Given the description of an element on the screen output the (x, y) to click on. 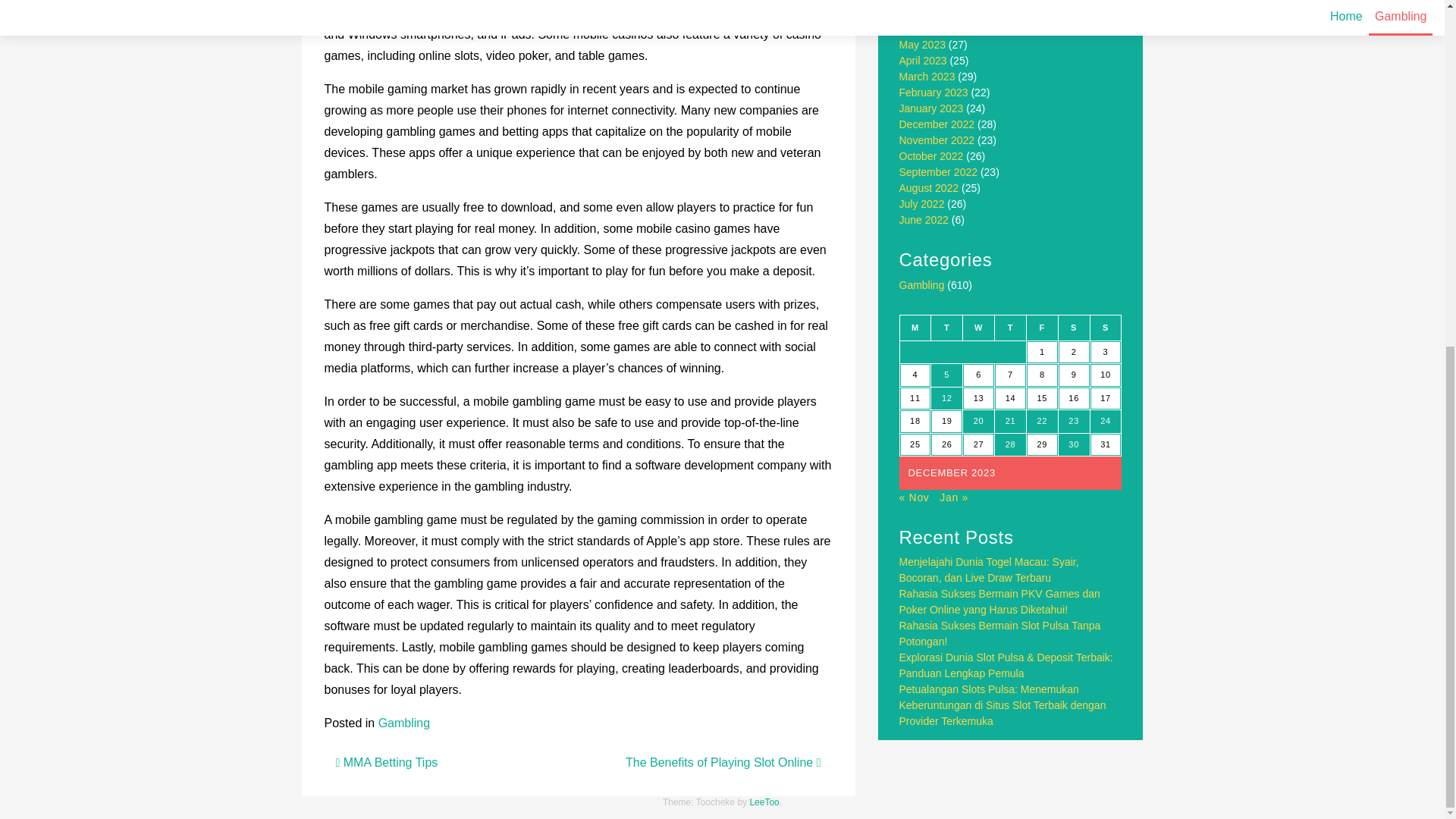
June 2023 (924, 28)
February 2023 (933, 92)
Gambling (403, 722)
August 2022 (929, 187)
April 2023 (923, 60)
December 2022 (937, 123)
Monday (915, 327)
August 2023 (929, 1)
Wednesday (978, 327)
January 2023 (931, 108)
The Benefits of Playing Slot Online  (723, 762)
Gambling (921, 285)
3 (1105, 352)
1 (1042, 352)
November 2022 (937, 140)
